Given the description of an element on the screen output the (x, y) to click on. 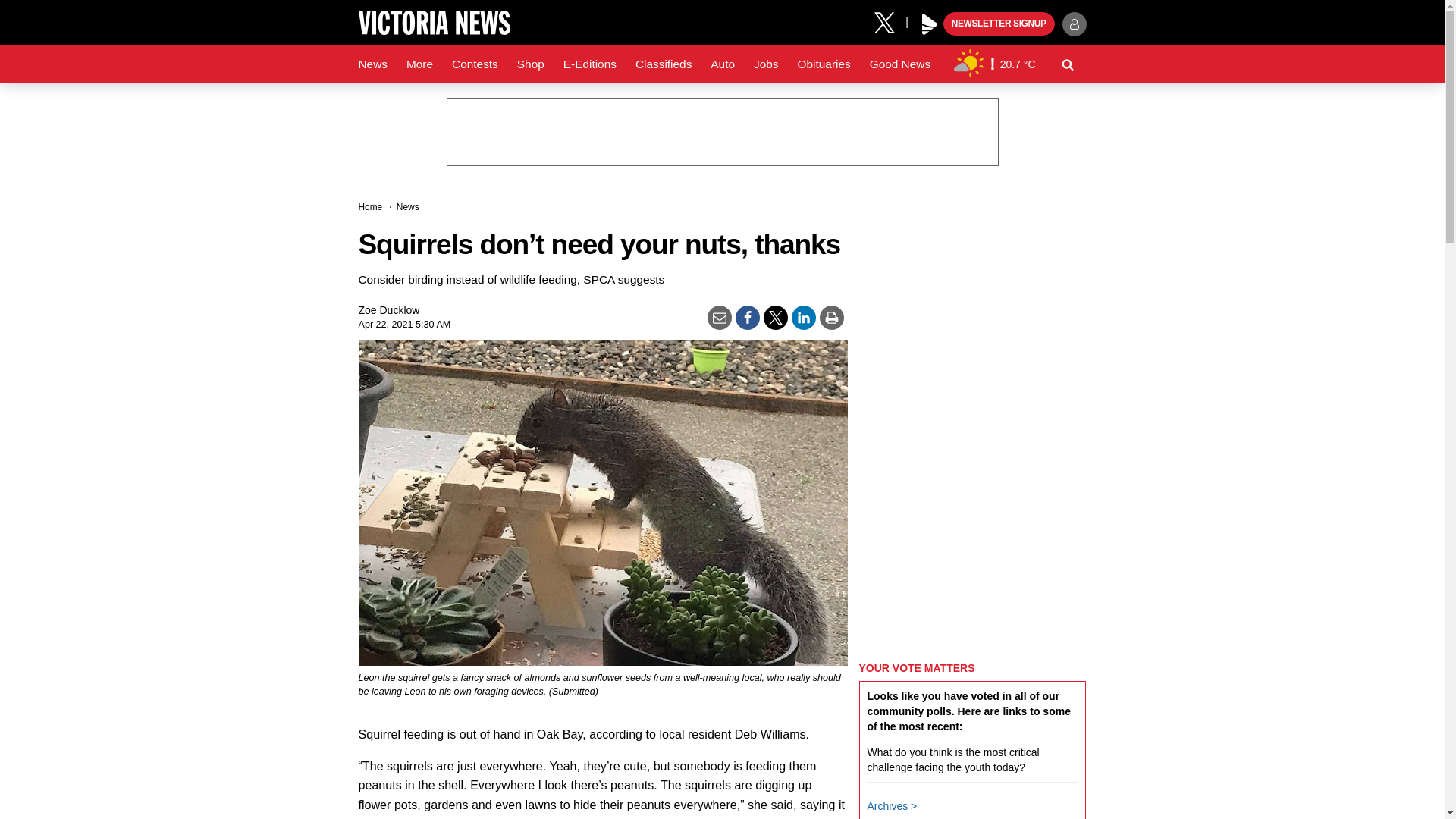
3rd party ad content (721, 131)
X (889, 21)
News (372, 64)
Play (929, 24)
NEWSLETTER SIGNUP (998, 24)
Black Press Media (929, 24)
